Given the description of an element on the screen output the (x, y) to click on. 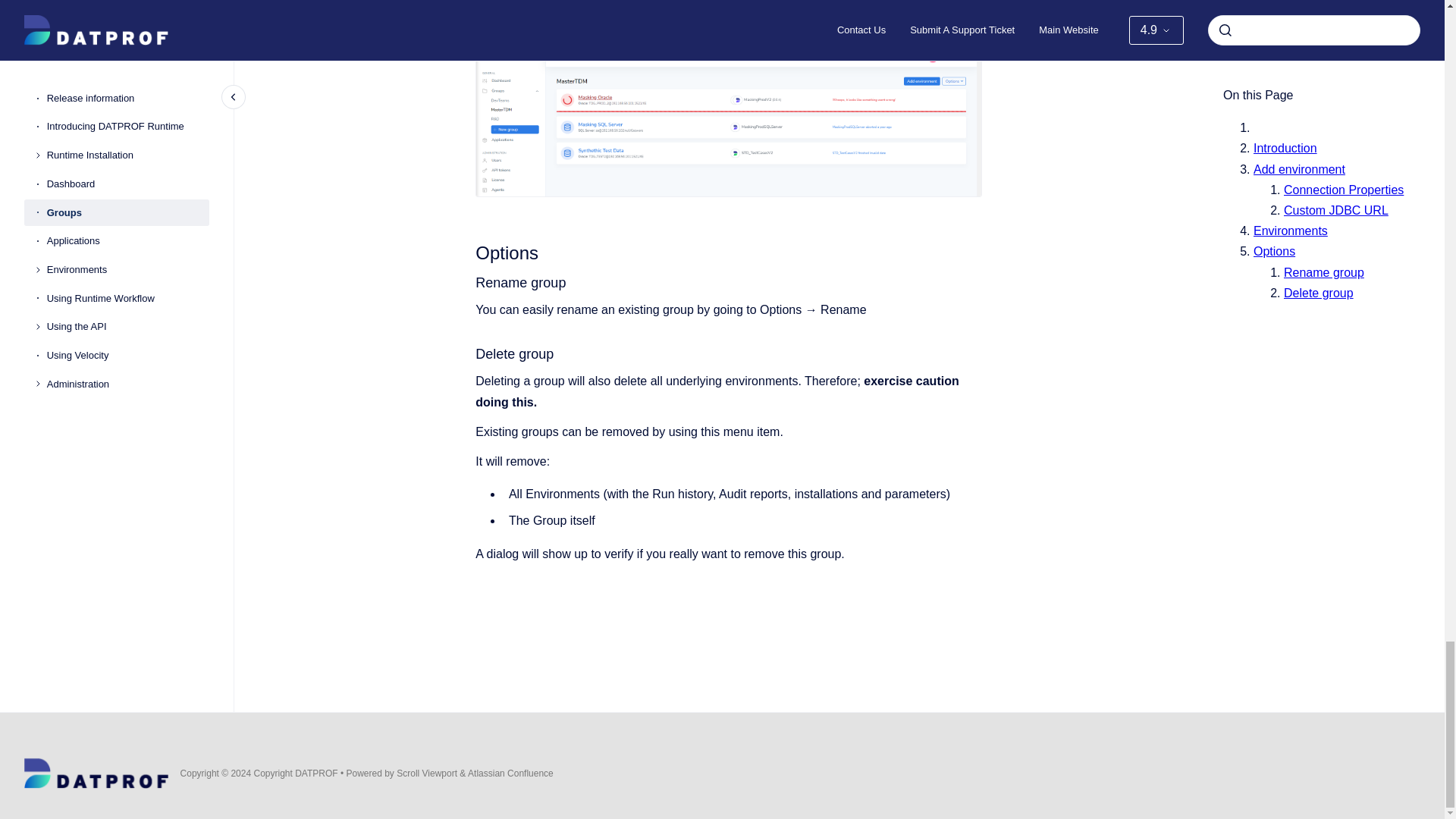
Atlassian Confluence (510, 773)
Scroll Viewport (428, 773)
